Given the description of an element on the screen output the (x, y) to click on. 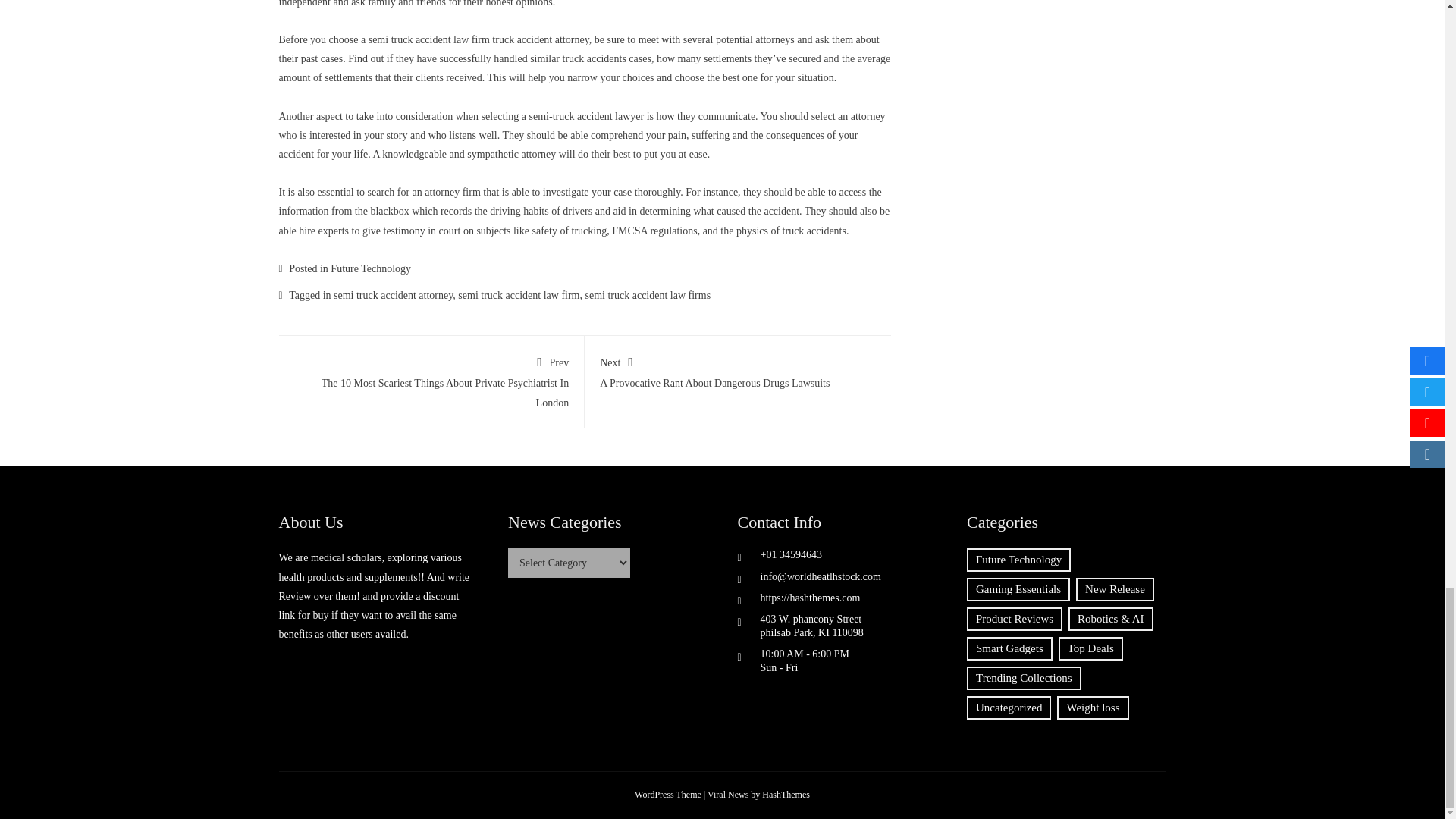
semi truck accident law firms (648, 295)
Download Viral News (727, 794)
semi truck accident law firm (518, 295)
semi truck accident attorney (392, 295)
Future Technology (737, 370)
semi truck accident law firm (370, 268)
